Given the description of an element on the screen output the (x, y) to click on. 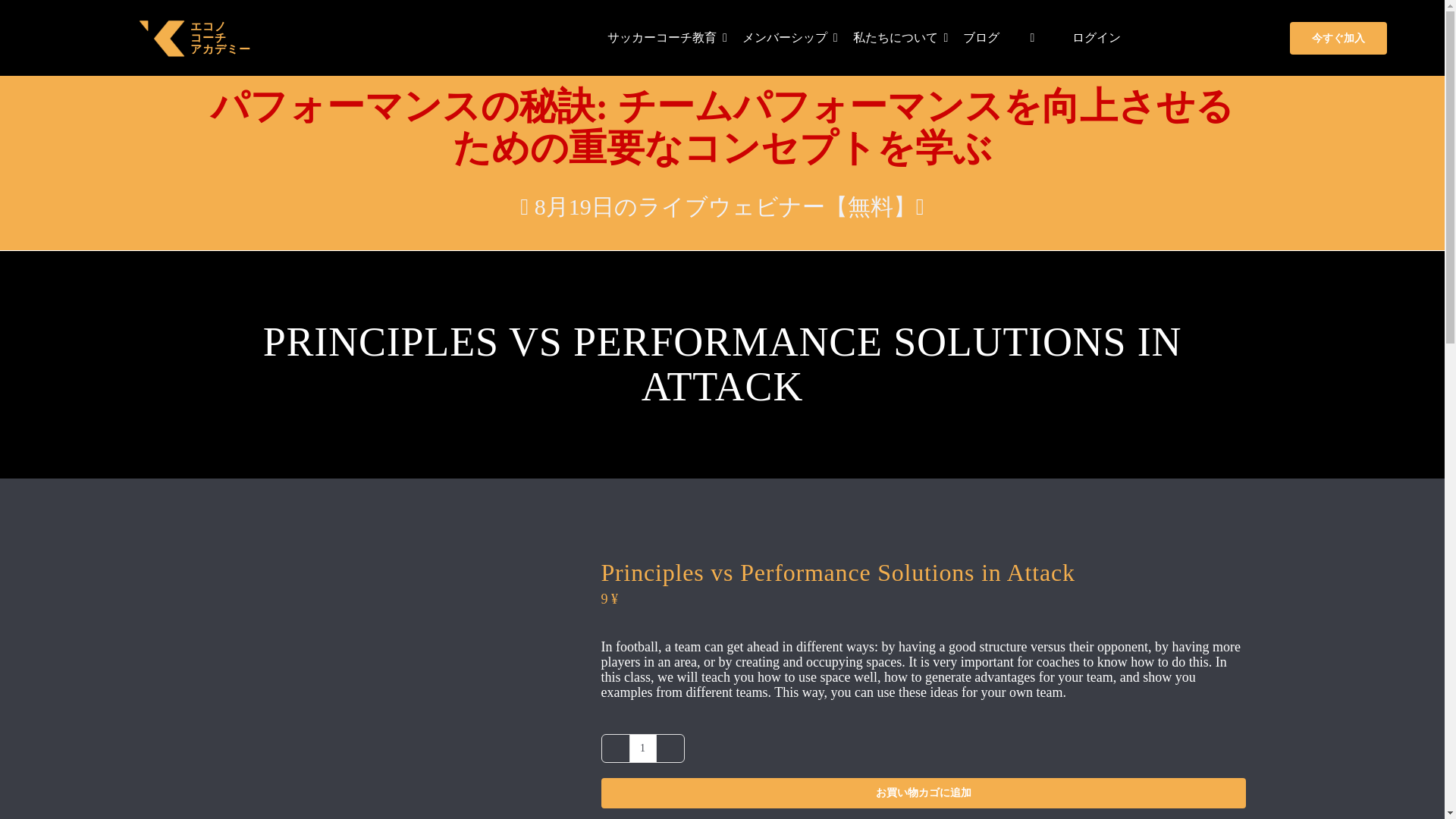
1 (642, 748)
